Given the description of an element on the screen output the (x, y) to click on. 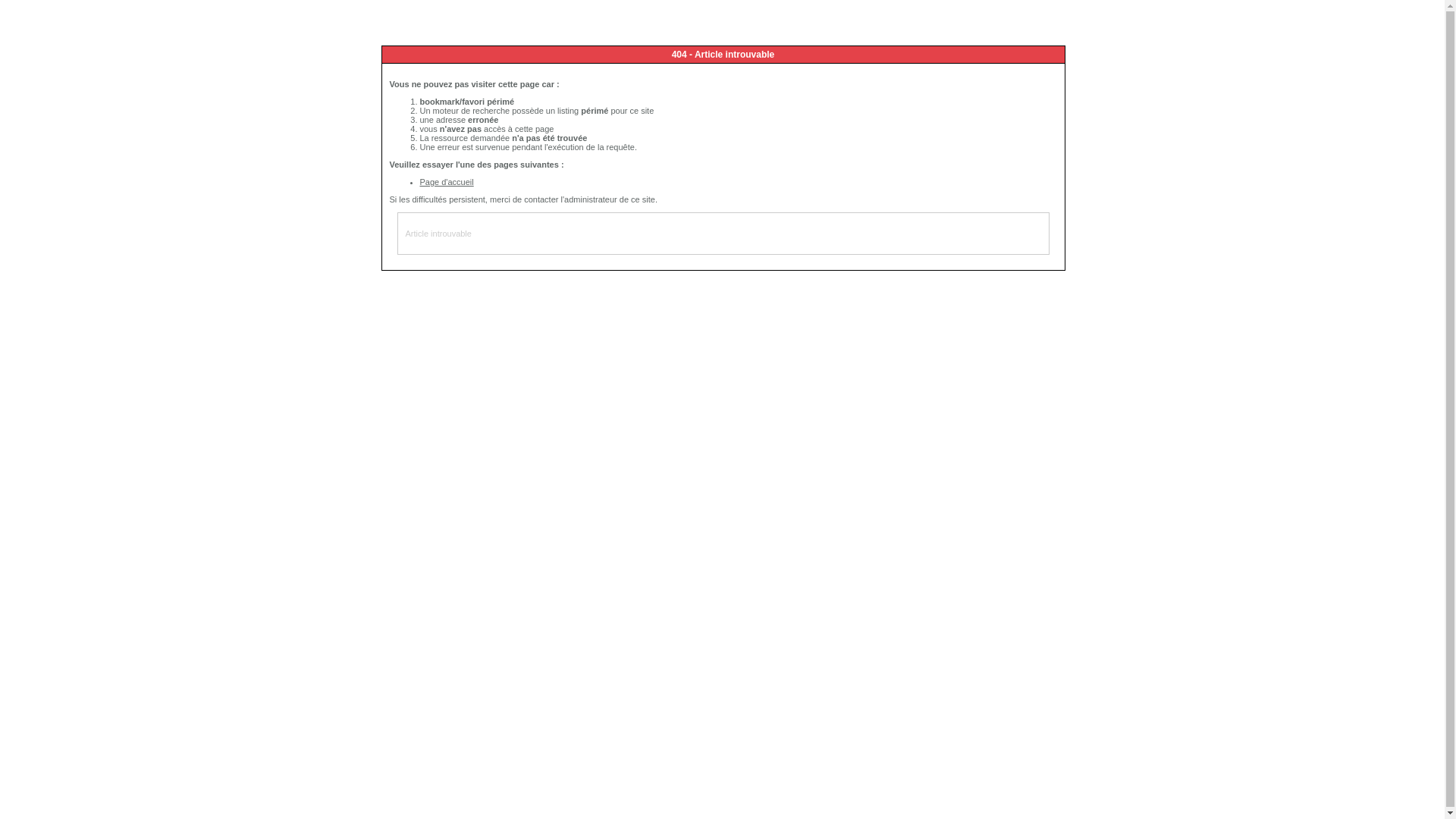
Page d'accueil Element type: text (446, 181)
